Given the description of an element on the screen output the (x, y) to click on. 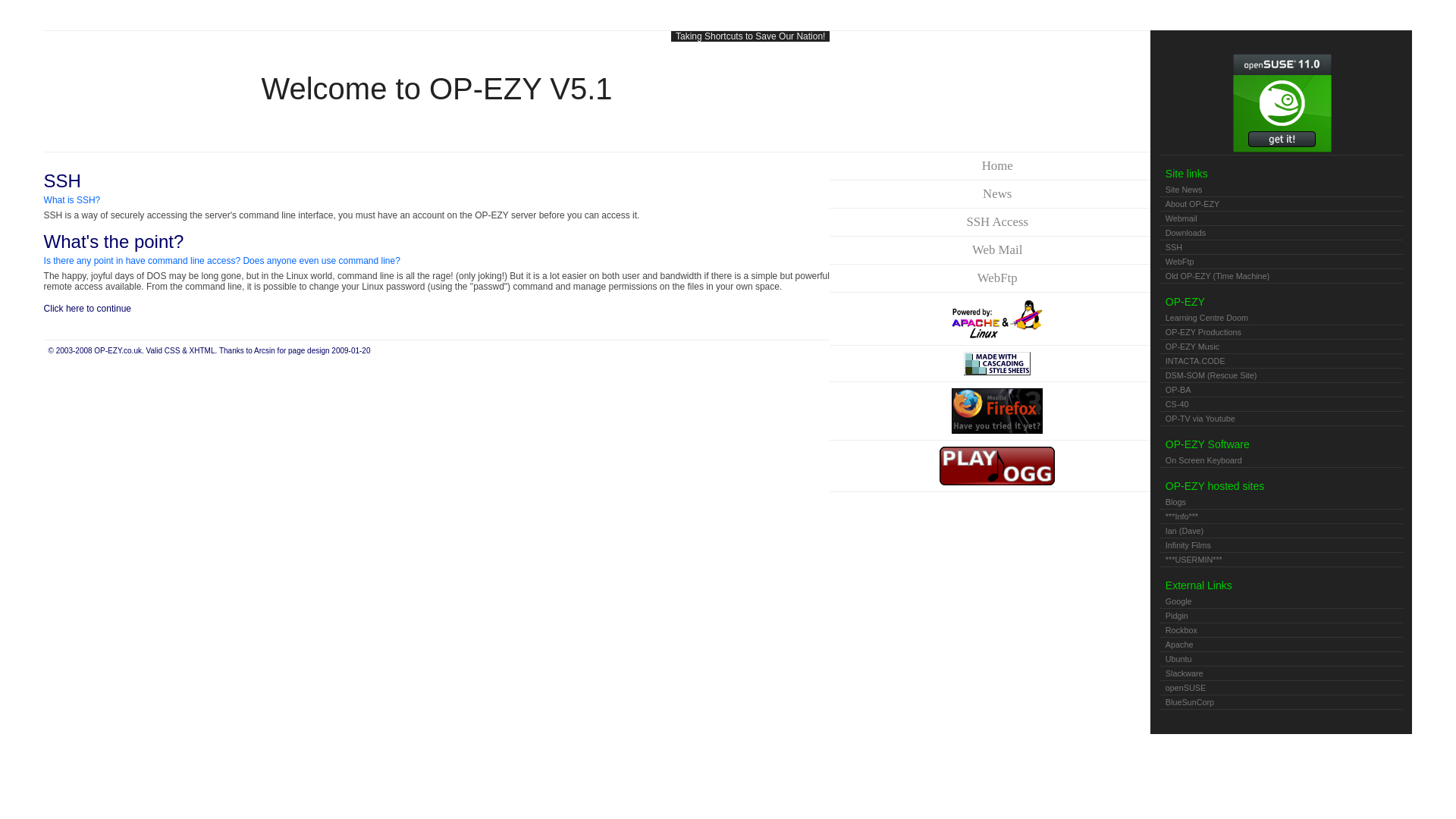
Ubuntu (1280, 658)
Slackware (1280, 673)
WebFtp (1280, 261)
OP-EZY Music (1280, 345)
Home (996, 165)
Apache (1280, 644)
On Screen Keyboard (1280, 459)
Pidgin (1280, 615)
openSUSE (1280, 687)
Made With CSS (996, 363)
Rockbox (1280, 630)
INTACTA.CODE (1280, 360)
WebFtp (996, 277)
Webmail (1280, 218)
Downloads (1280, 232)
